Given the description of an element on the screen output the (x, y) to click on. 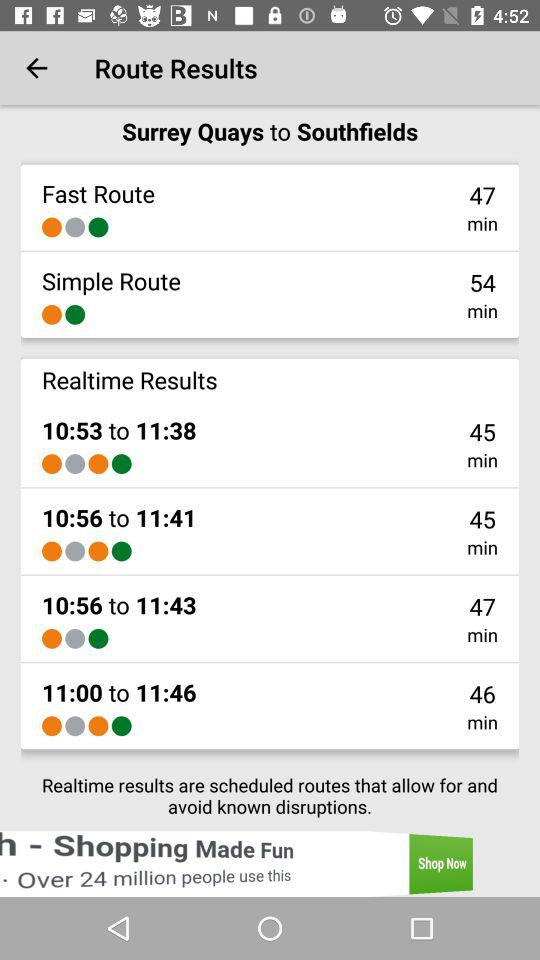
click icon below 11 00 to (75, 726)
